Given the description of an element on the screen output the (x, y) to click on. 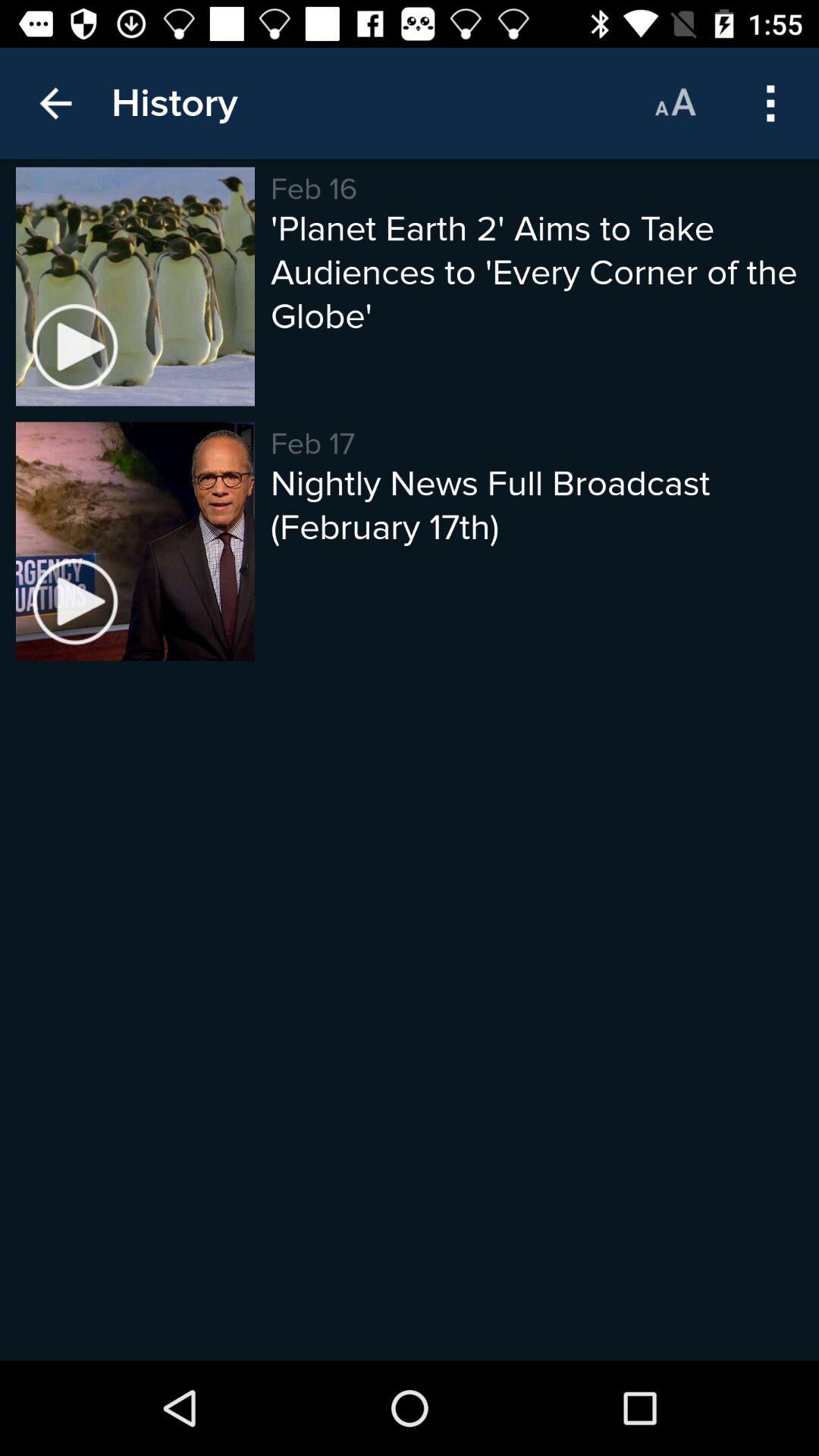
press the icon next to the history icon (674, 103)
